Given the description of an element on the screen output the (x, y) to click on. 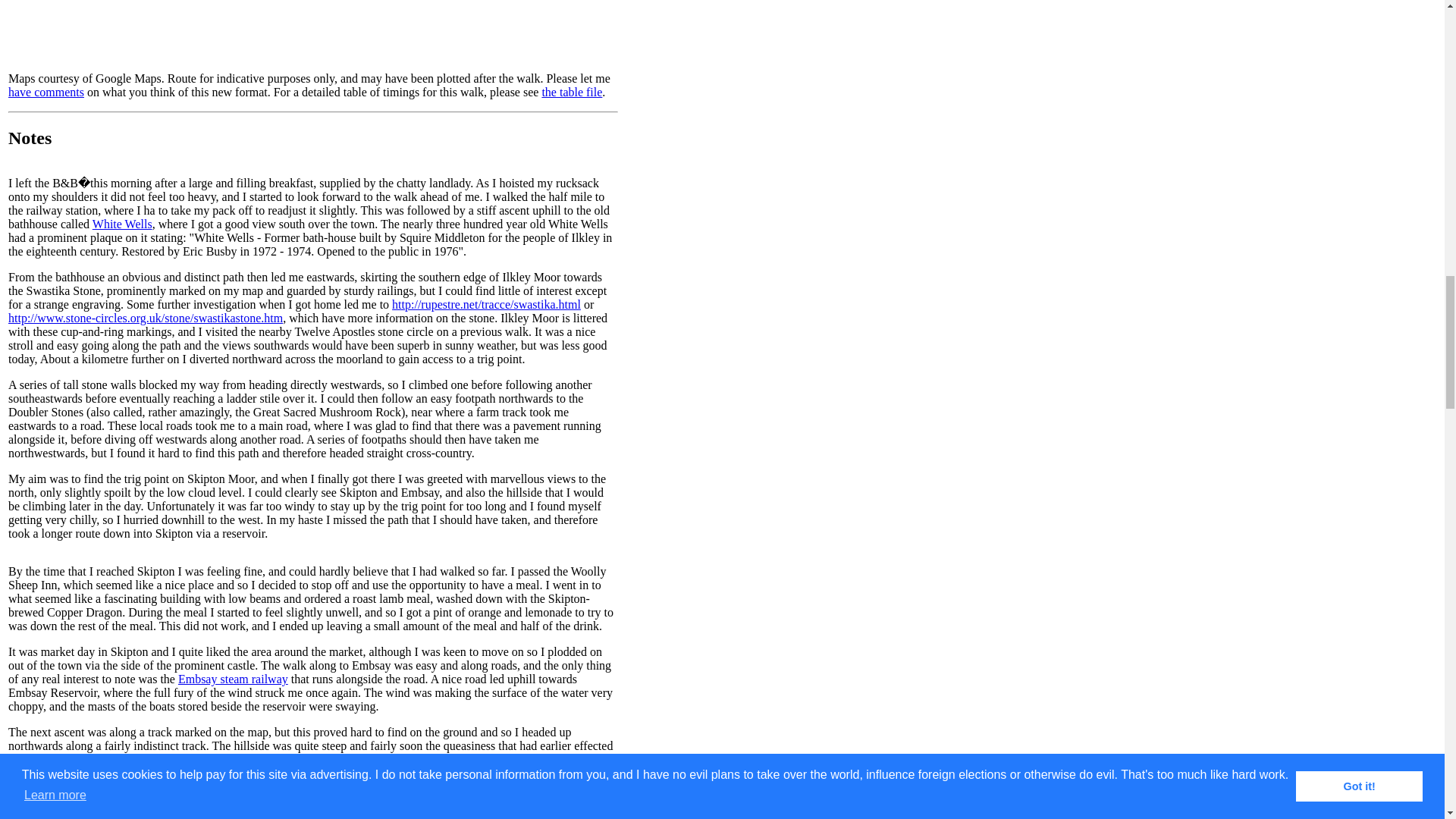
Embsay steam railway (232, 678)
White Wells (122, 223)
have comments (46, 91)
the table file (571, 91)
